Given the description of an element on the screen output the (x, y) to click on. 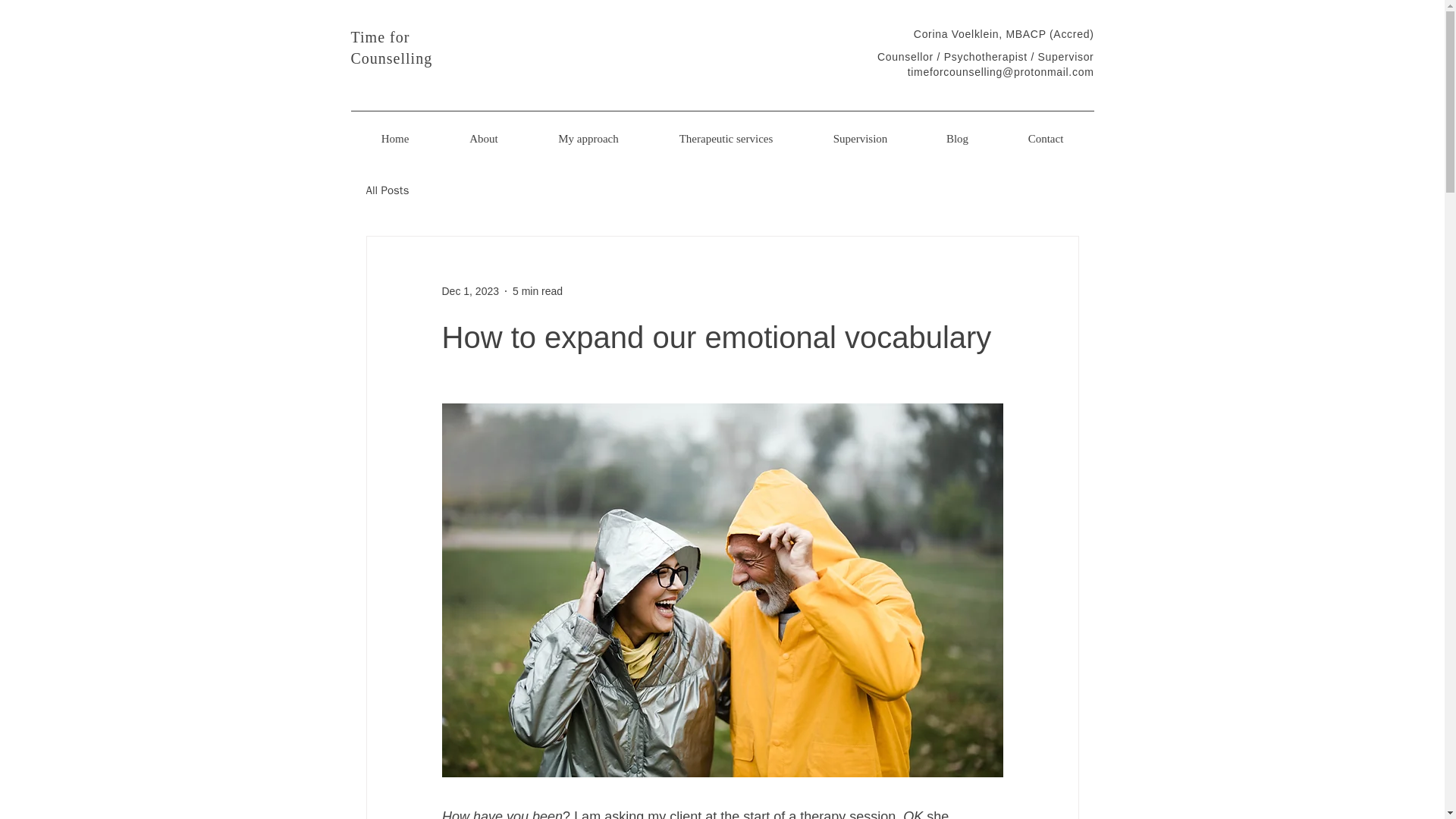
My approach (587, 138)
Contact (1045, 138)
All Posts (387, 190)
Counselling (391, 57)
About (483, 138)
Supervision (860, 138)
Home (394, 138)
Blog (957, 138)
Therapeutic services (726, 138)
Dec 1, 2023 (470, 291)
5 min read (537, 291)
